Given the description of an element on the screen output the (x, y) to click on. 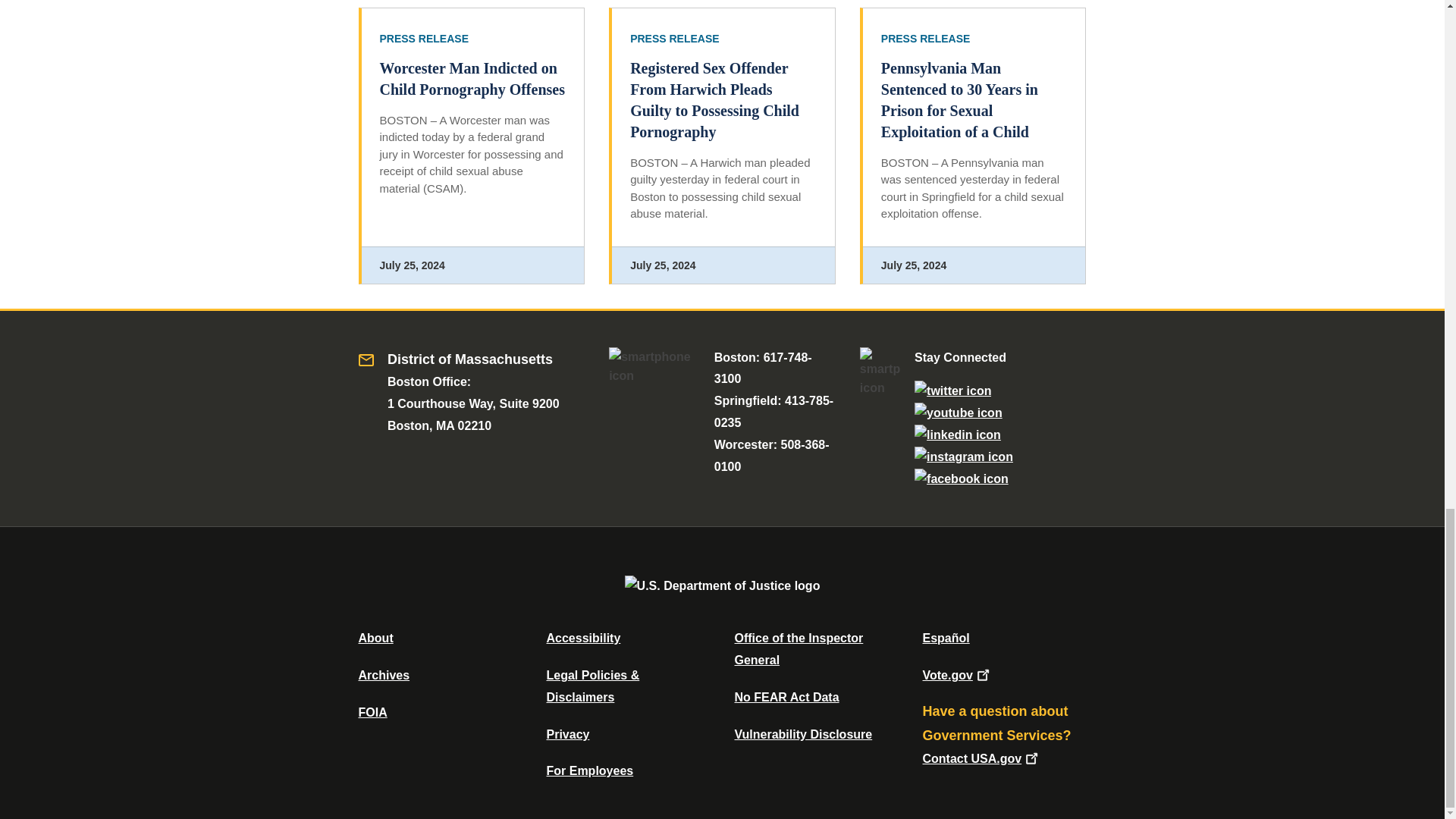
For Employees (589, 770)
Data Posted Pursuant To The No Fear Act (785, 697)
Accessibility Statement (583, 637)
Office of Information Policy (372, 712)
Legal Policies and Disclaimers (592, 686)
About DOJ (375, 637)
Department of Justice Archive (383, 675)
